Given the description of an element on the screen output the (x, y) to click on. 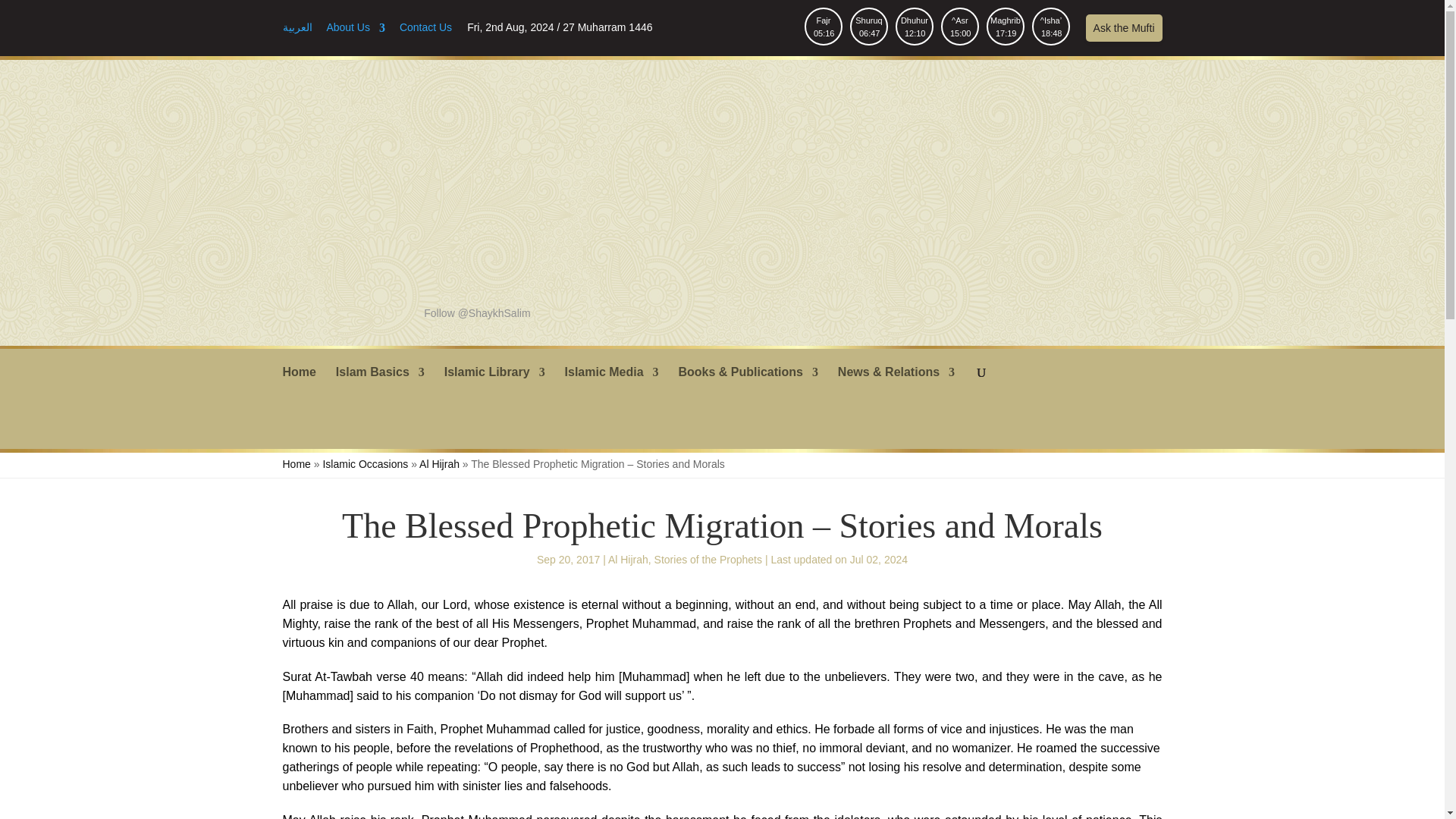
Islamic Library (494, 384)
Home (298, 384)
Ask the Mufti (1123, 27)
Islamic Multimedia (824, 26)
Islam Basics (611, 384)
About Us (380, 384)
About Us (355, 31)
Contact Us (355, 31)
Contact Us (914, 26)
